Given the description of an element on the screen output the (x, y) to click on. 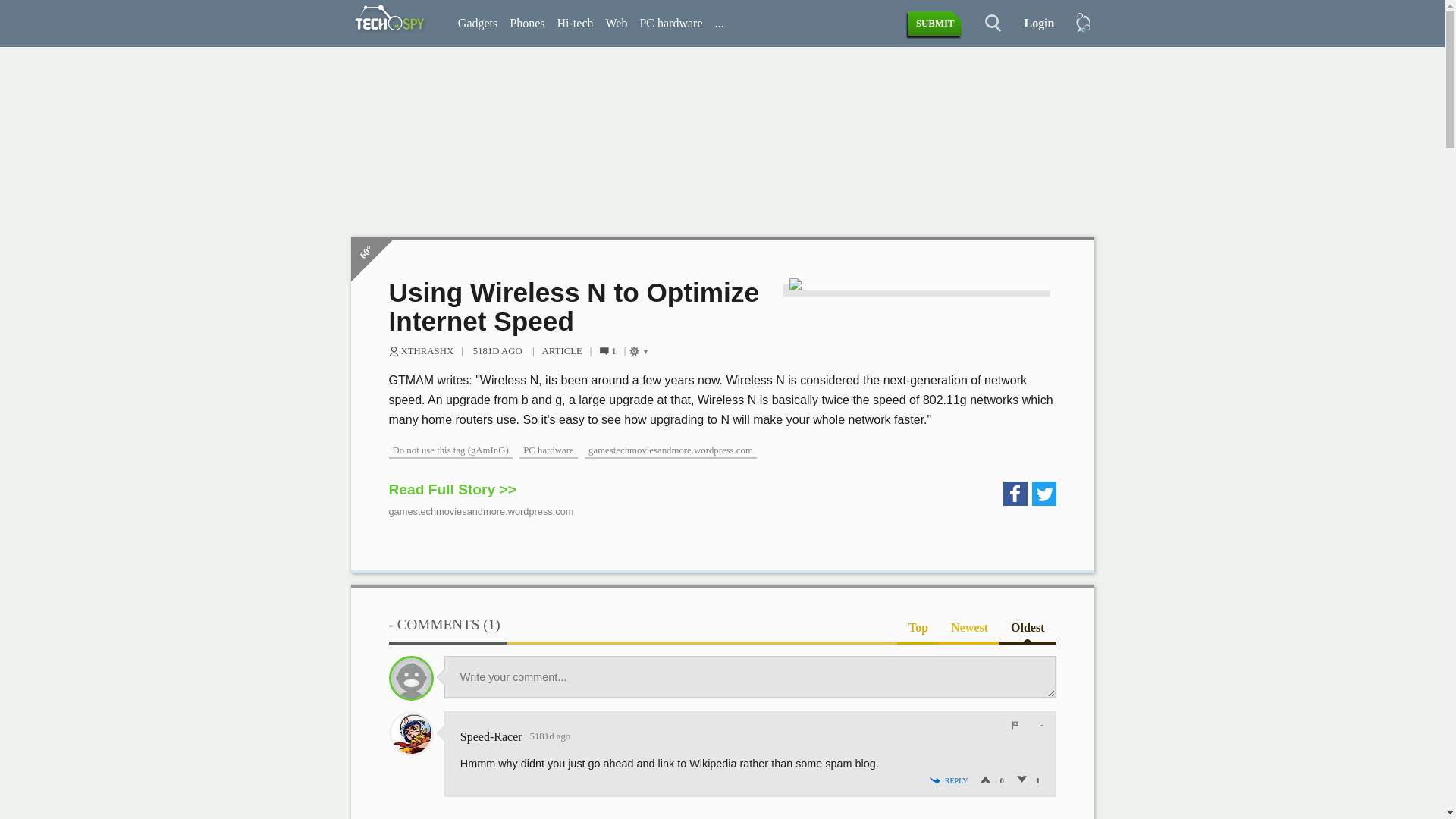
Hi-tech (574, 24)
Login (1033, 23)
Gadgets (477, 24)
SUBMIT (935, 23)
PC hardware (670, 24)
Phones (526, 24)
Web (615, 24)
Search (984, 23)
